Given the description of an element on the screen output the (x, y) to click on. 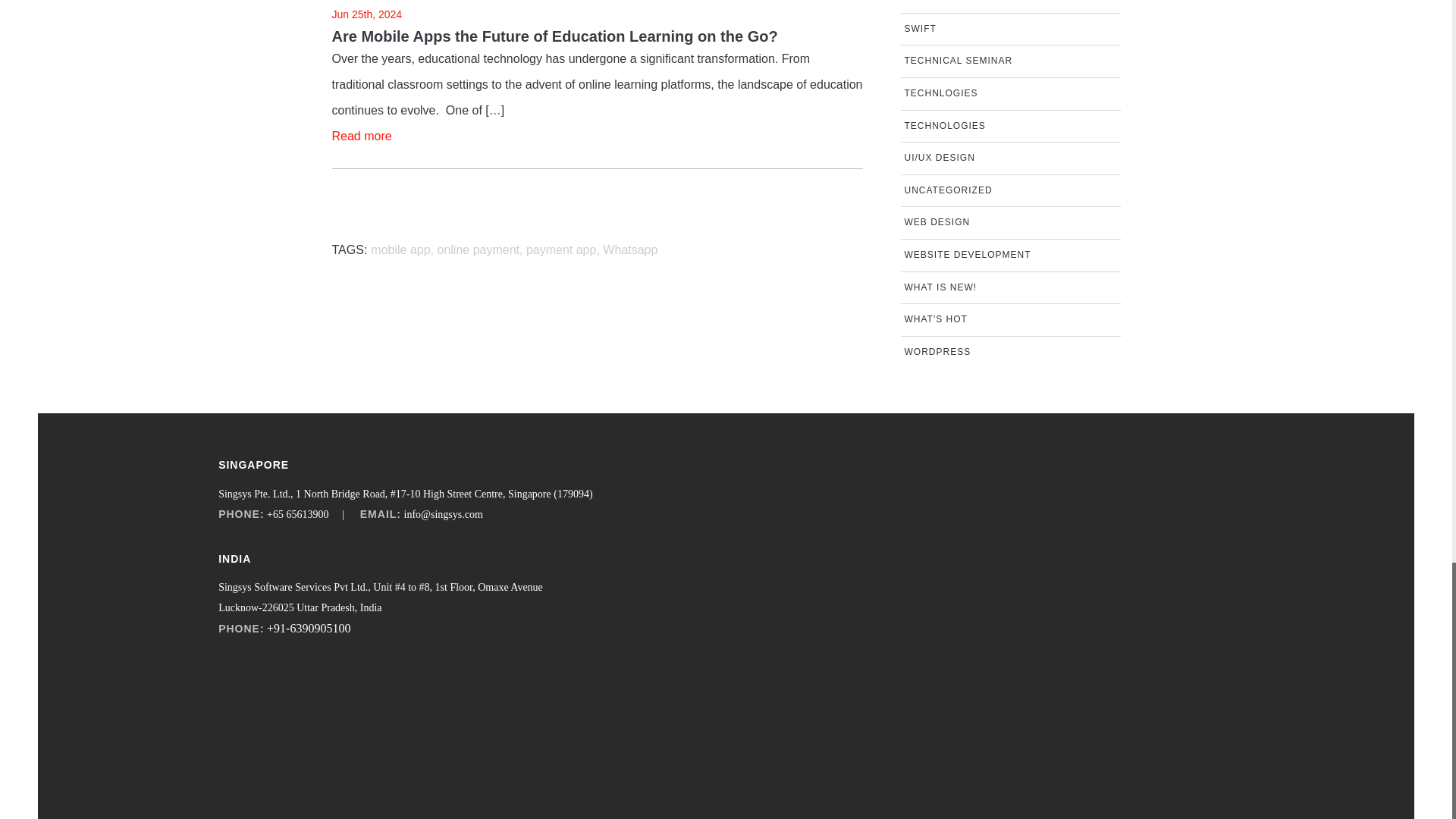
Are Mobile Apps the Future of Education Learning on the Go? (597, 36)
Instagram (351, 682)
Facebook (233, 682)
LinkedIn (312, 682)
YouTube (390, 682)
Twitter (272, 682)
